Given the description of an element on the screen output the (x, y) to click on. 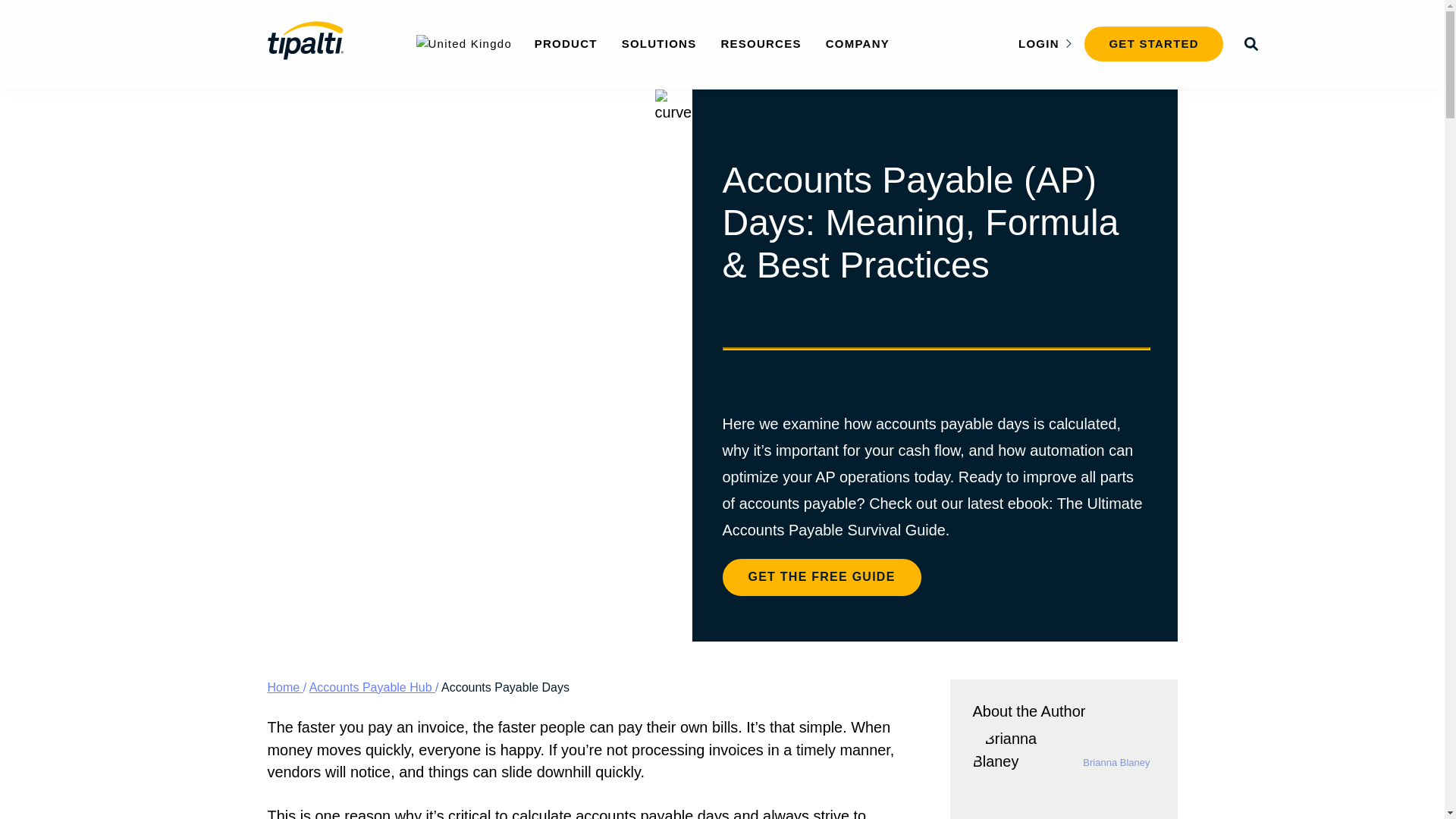
SOLUTIONS (659, 42)
COMPANY (857, 42)
PRODUCT (565, 42)
RESOURCES (760, 42)
